Given the description of an element on the screen output the (x, y) to click on. 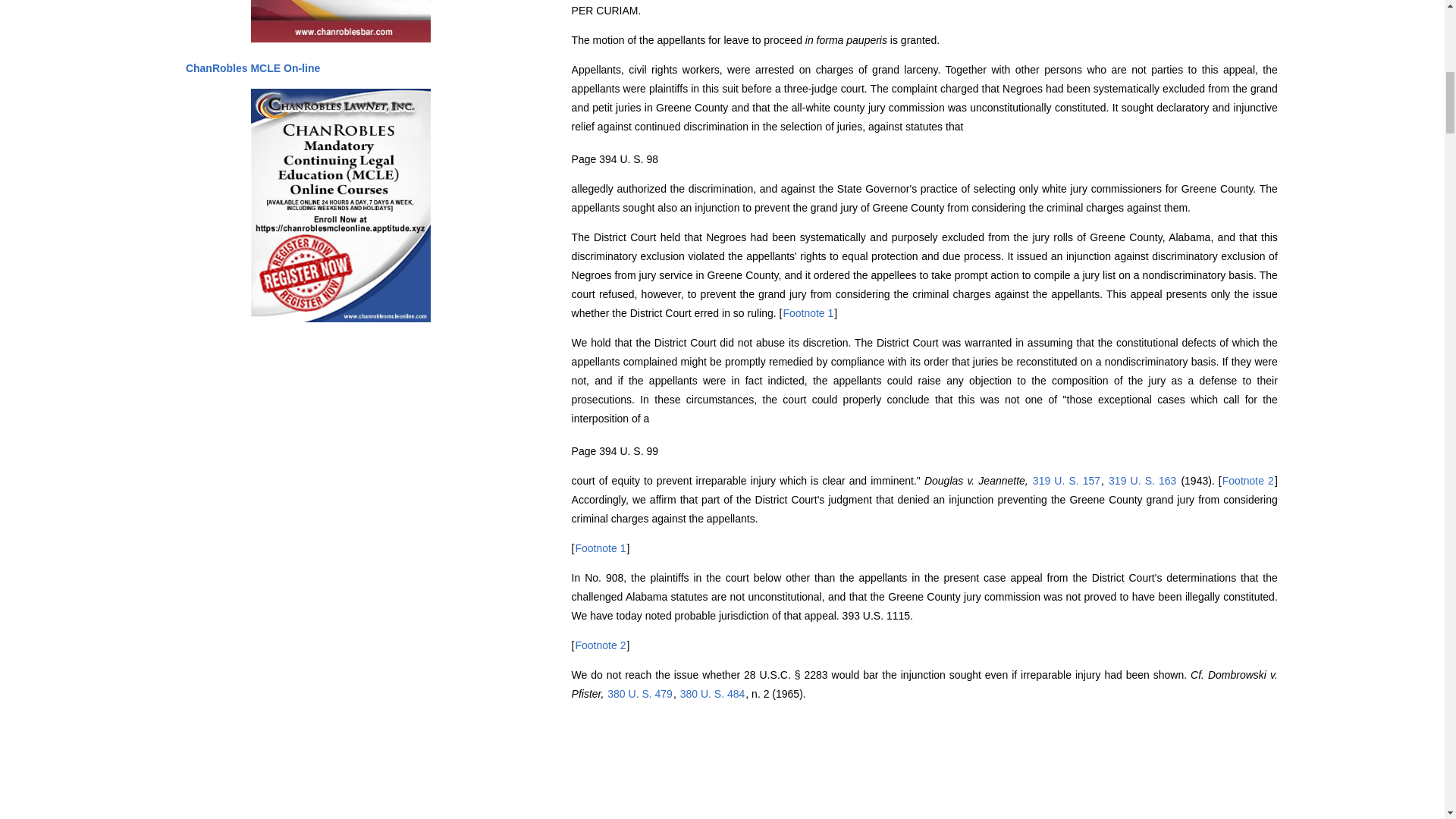
ChanRobles MCLE On-line (252, 68)
319 U. S. 157 (1066, 480)
Footnote 2 (601, 645)
Page 394 U. S. 98 (615, 159)
380 U. S. 484 (712, 693)
Footnote 1 (601, 548)
380 U. S. 479 (639, 693)
Page 394 U. S. 99 (615, 451)
Footnote 1 (807, 313)
